Given the description of an element on the screen output the (x, y) to click on. 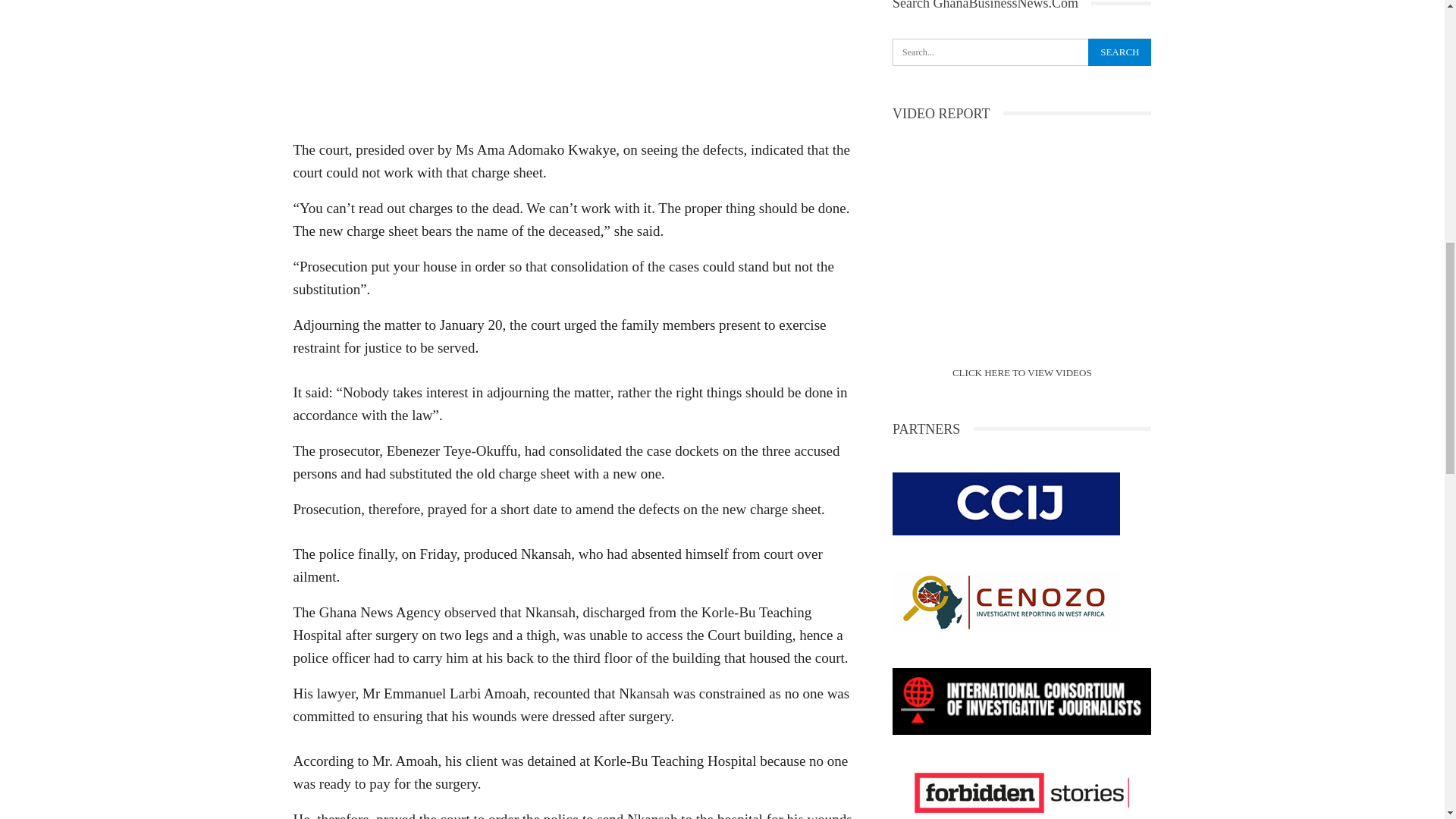
Search (1119, 52)
Search (1119, 52)
Advertisement (574, 64)
